Given the description of an element on the screen output the (x, y) to click on. 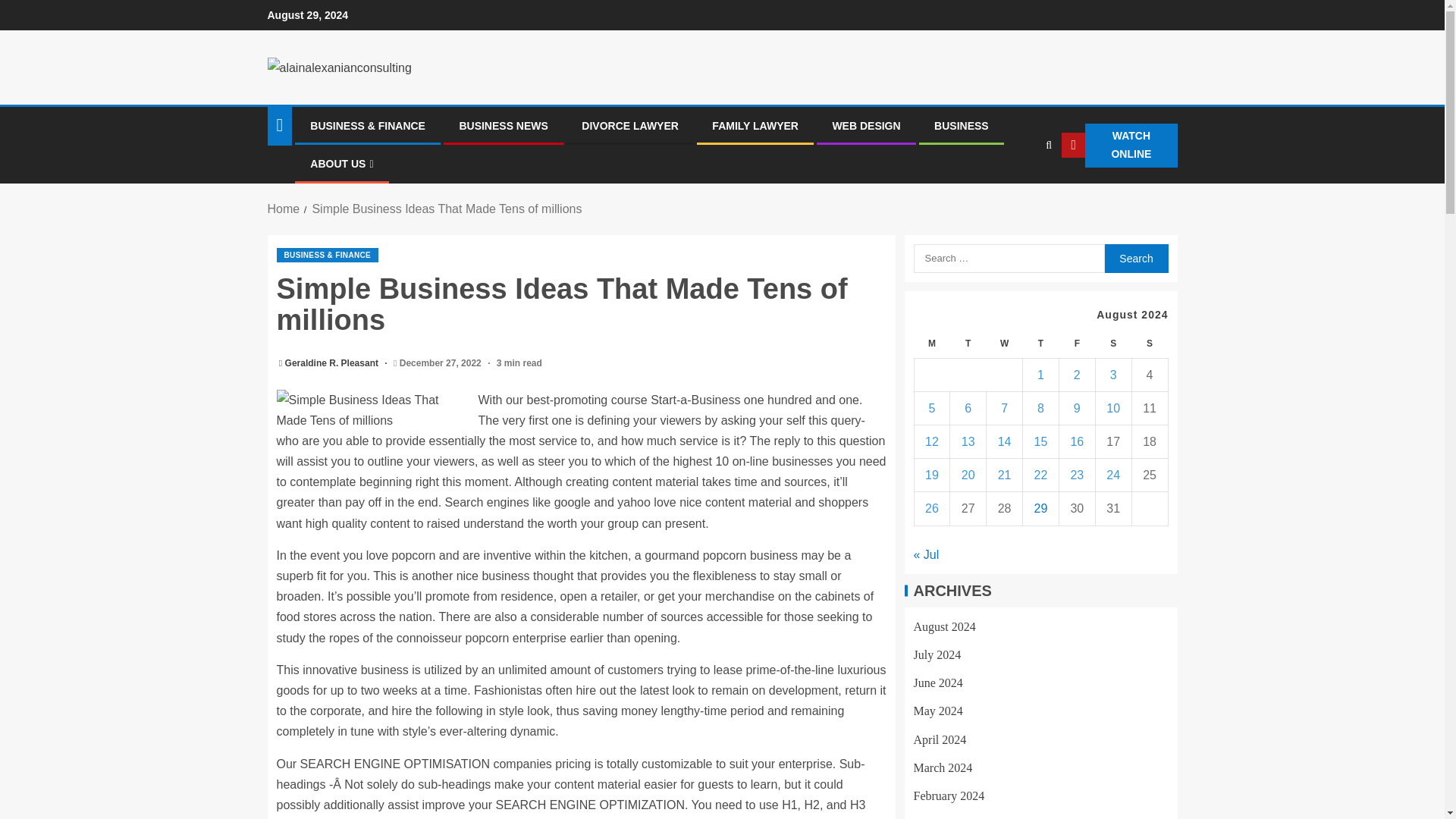
WATCH ONLINE (1118, 145)
ABOUT US (341, 163)
Home (282, 208)
Sunday (1149, 343)
BUSINESS (961, 125)
Search (1135, 258)
Simple Business Ideas That Made Tens of millions (373, 409)
Saturday (1112, 343)
Search (1018, 191)
Thursday (1041, 343)
